Given the description of an element on the screen output the (x, y) to click on. 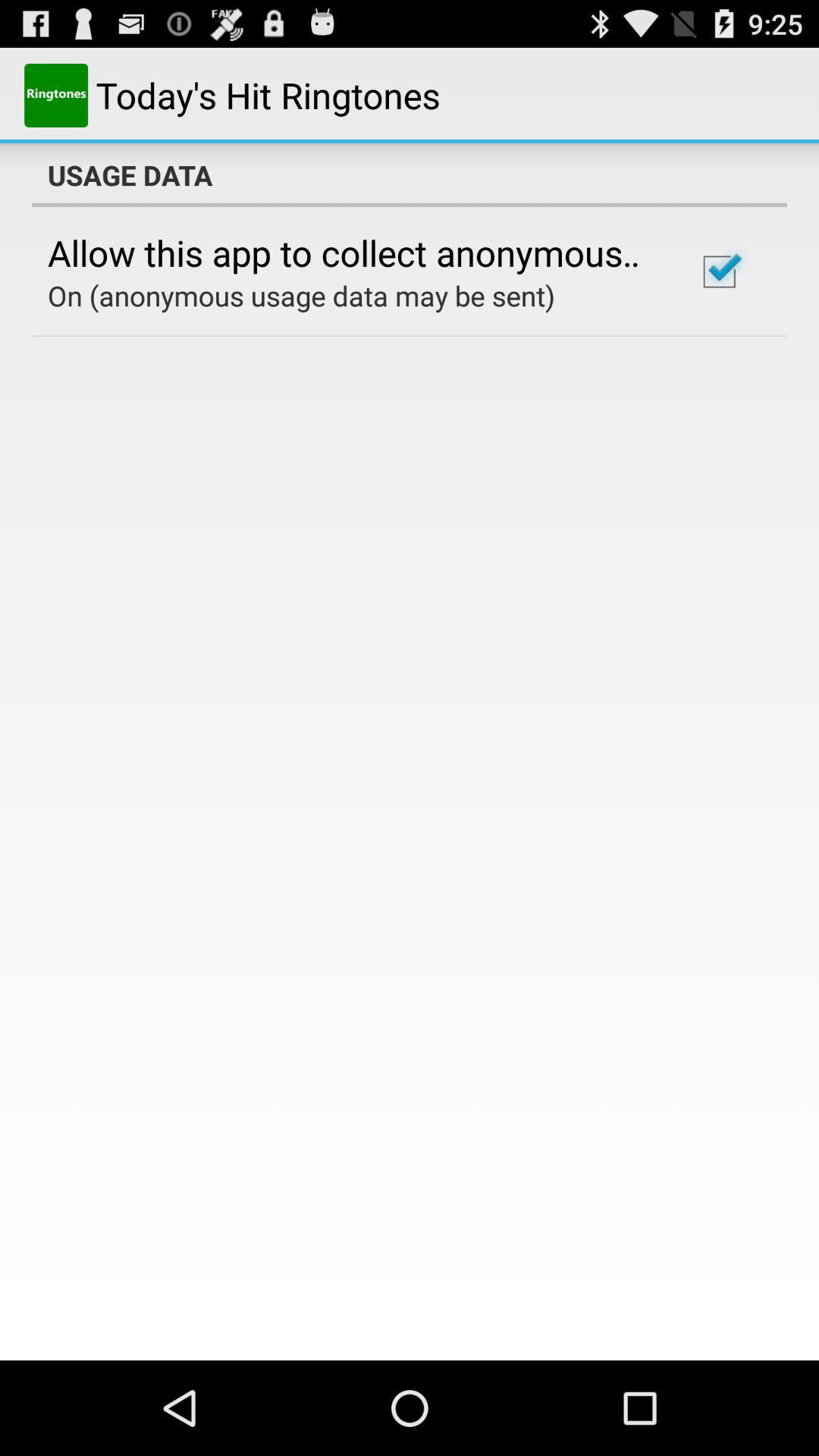
press the icon at the top right corner (719, 271)
